Given the description of an element on the screen output the (x, y) to click on. 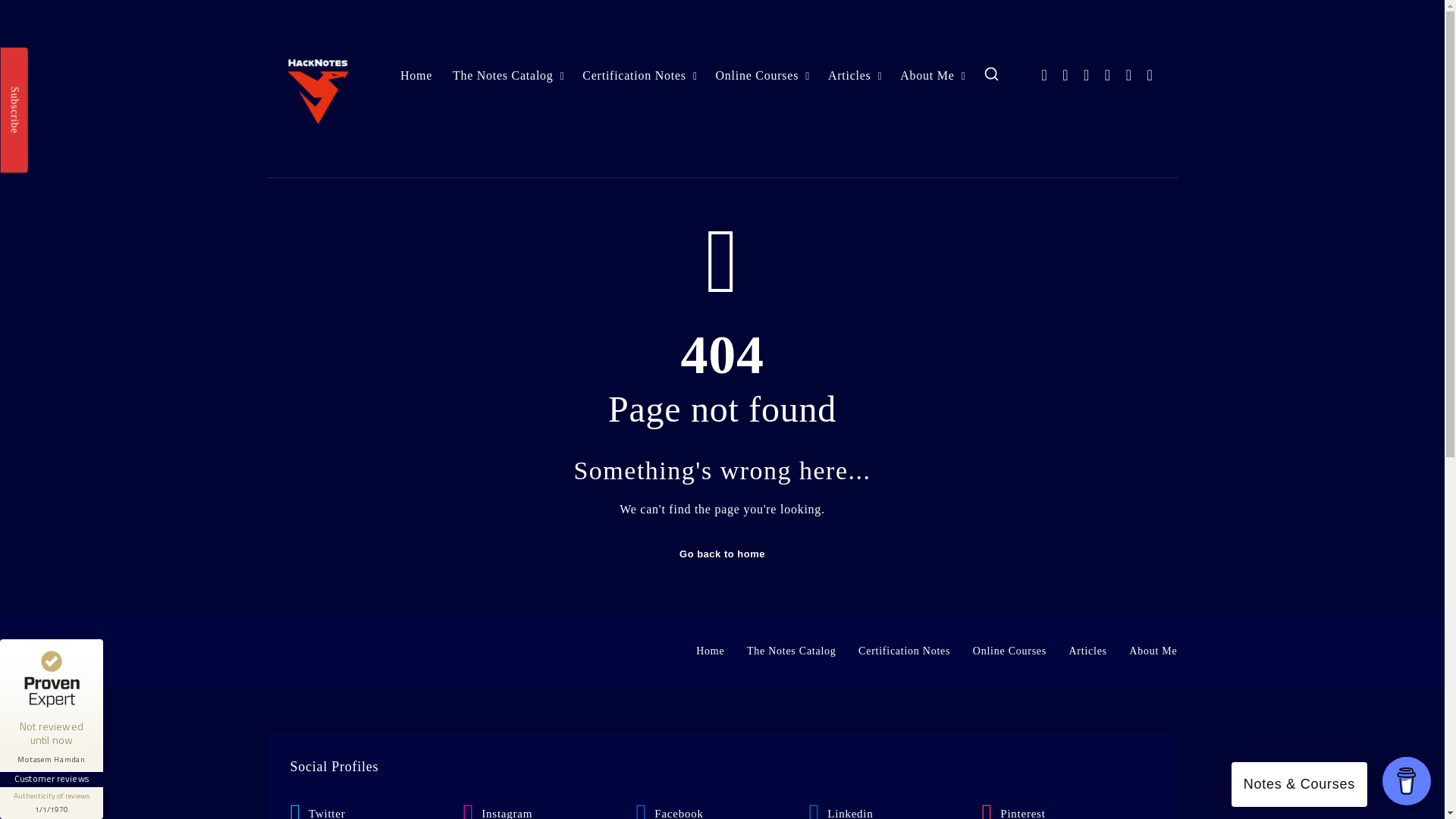
Close back side (13, 645)
Get more information now (113, 791)
Authenticity of reviews (51, 803)
